Given the description of an element on the screen output the (x, y) to click on. 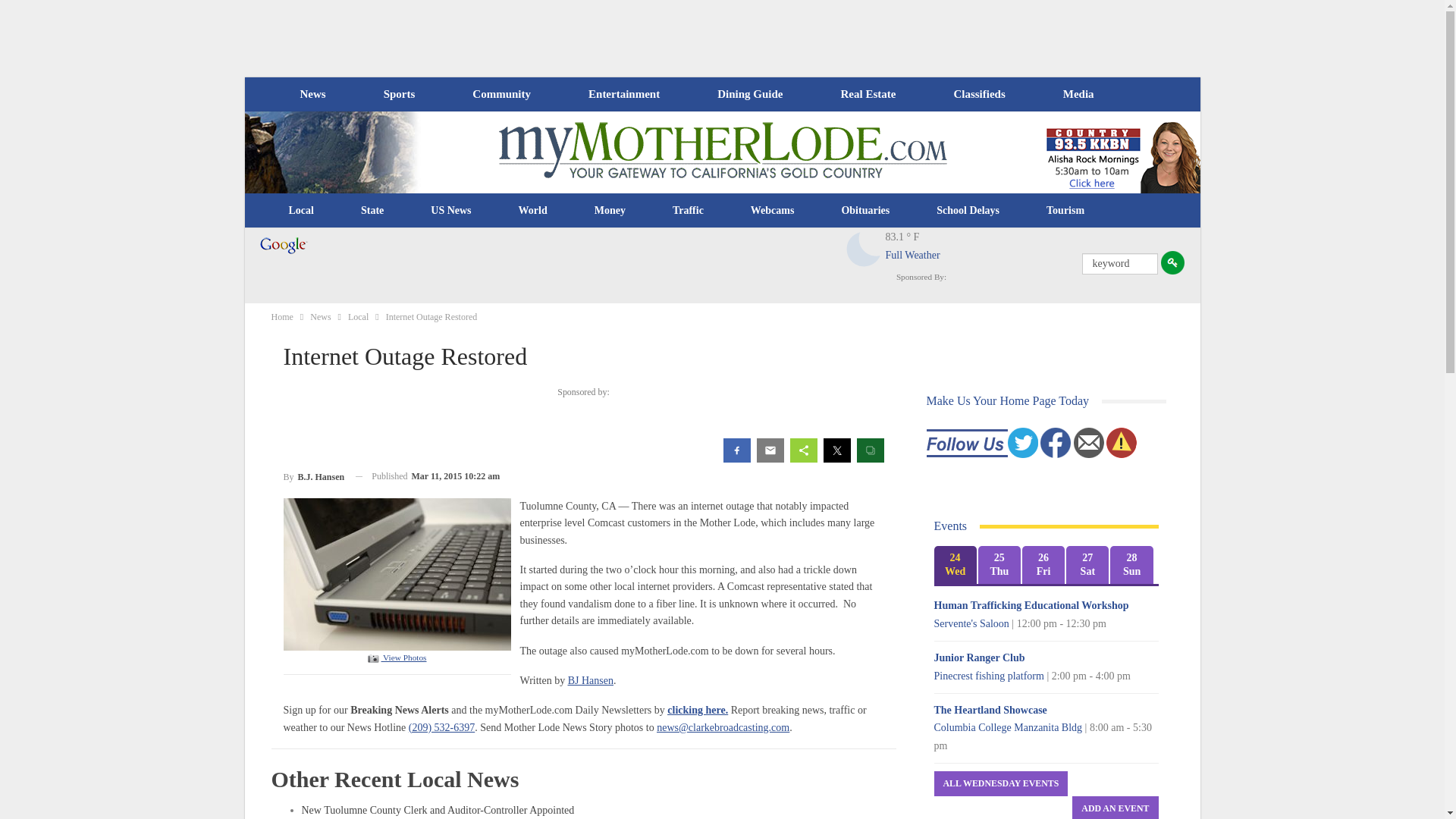
Internet Outage Restored (396, 656)
Clear (864, 249)
Dining Guide (749, 93)
Local (300, 210)
keyword (1119, 263)
News (312, 93)
US News (451, 210)
Webcams (772, 210)
Entertainment (624, 93)
Stock Photo (397, 572)
Add An Event (1114, 807)
School Delays (967, 210)
